Given the description of an element on the screen output the (x, y) to click on. 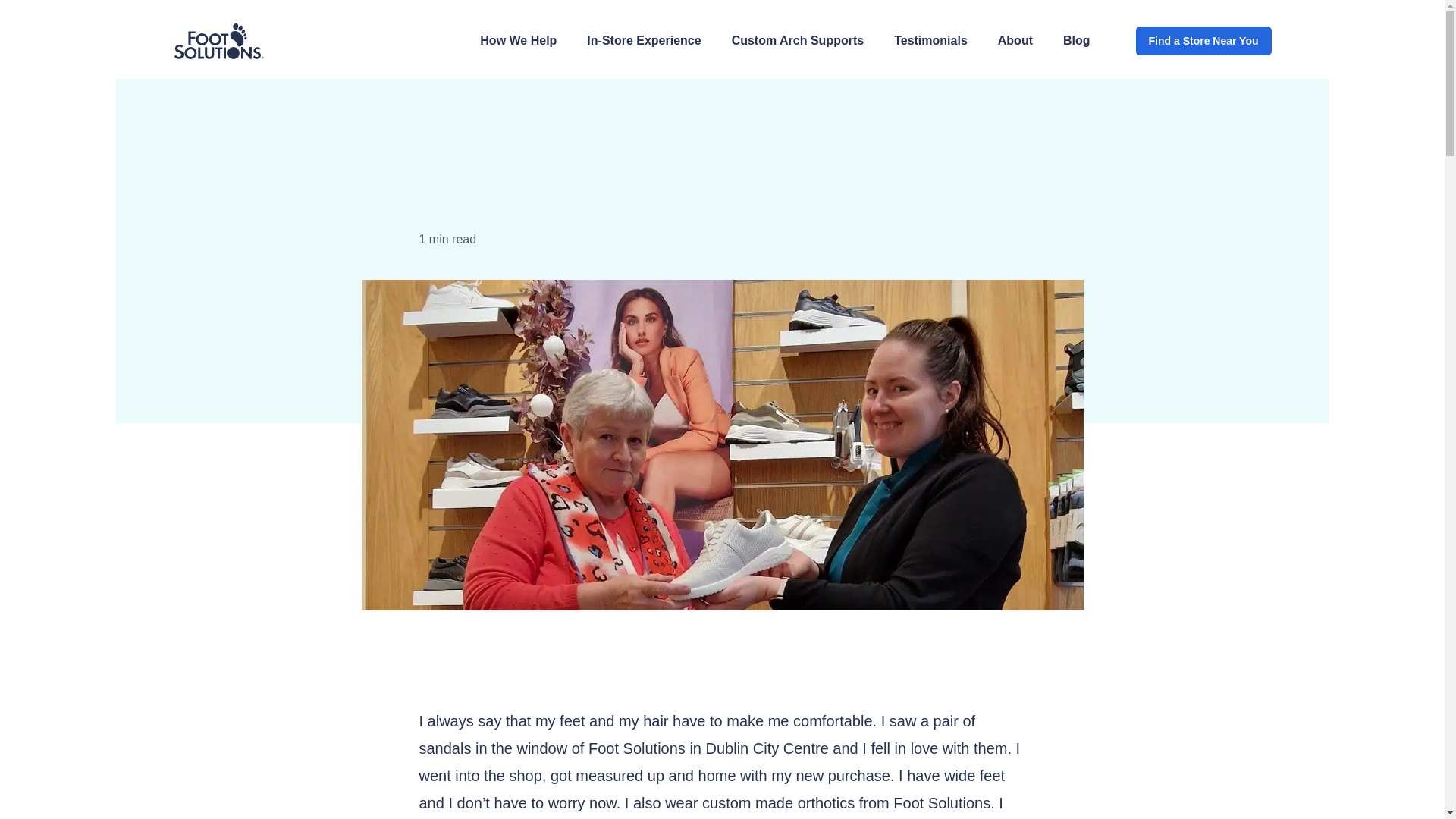
About (1014, 40)
In-Store Experience (643, 40)
Find a Store Near You (1203, 40)
How We Help (518, 40)
Blog (430, 122)
Custom Arch Supports (798, 40)
Blog (1076, 40)
Testimonials (930, 40)
